Given the description of an element on the screen output the (x, y) to click on. 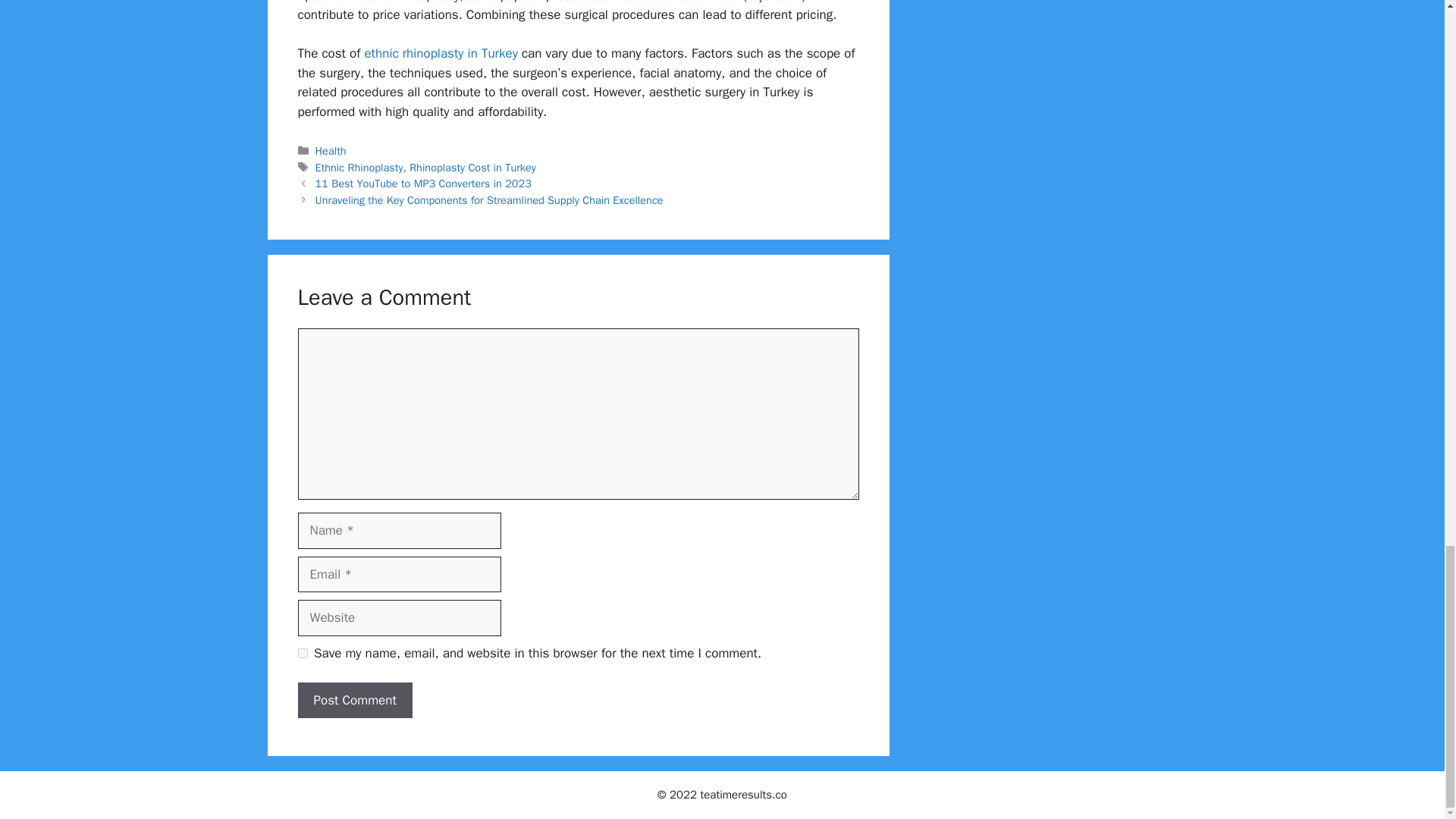
11 Best YouTube to MP3 Converters in 2023 (423, 183)
Post Comment (354, 700)
Rhinoplasty Cost in Turkey (472, 167)
ethnic rhinoplasty in Turkey (437, 53)
Ethnic Rhinoplasty (359, 167)
yes (302, 653)
Health (330, 151)
Post Comment (354, 700)
